Given the description of an element on the screen output the (x, y) to click on. 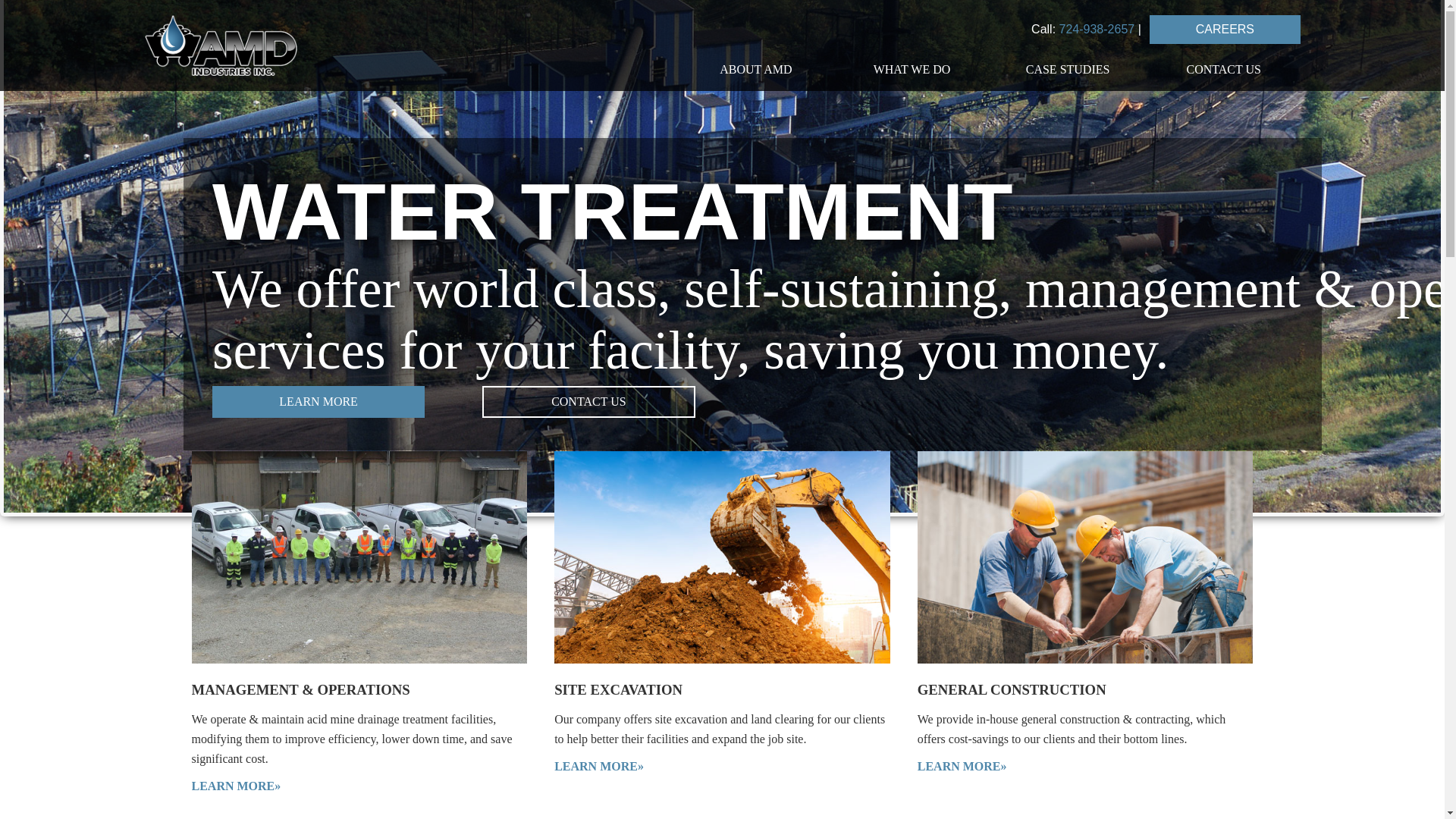
CONTACT US (587, 401)
CASE STUDIES (1067, 69)
AMD Industries (295, 45)
ABOUT AMD (756, 69)
LEARN MORE (318, 401)
CAREERS (1225, 29)
CONTACT US (1223, 69)
724-938-2657 (1097, 29)
WHAT WE DO (912, 69)
